Given the description of an element on the screen output the (x, y) to click on. 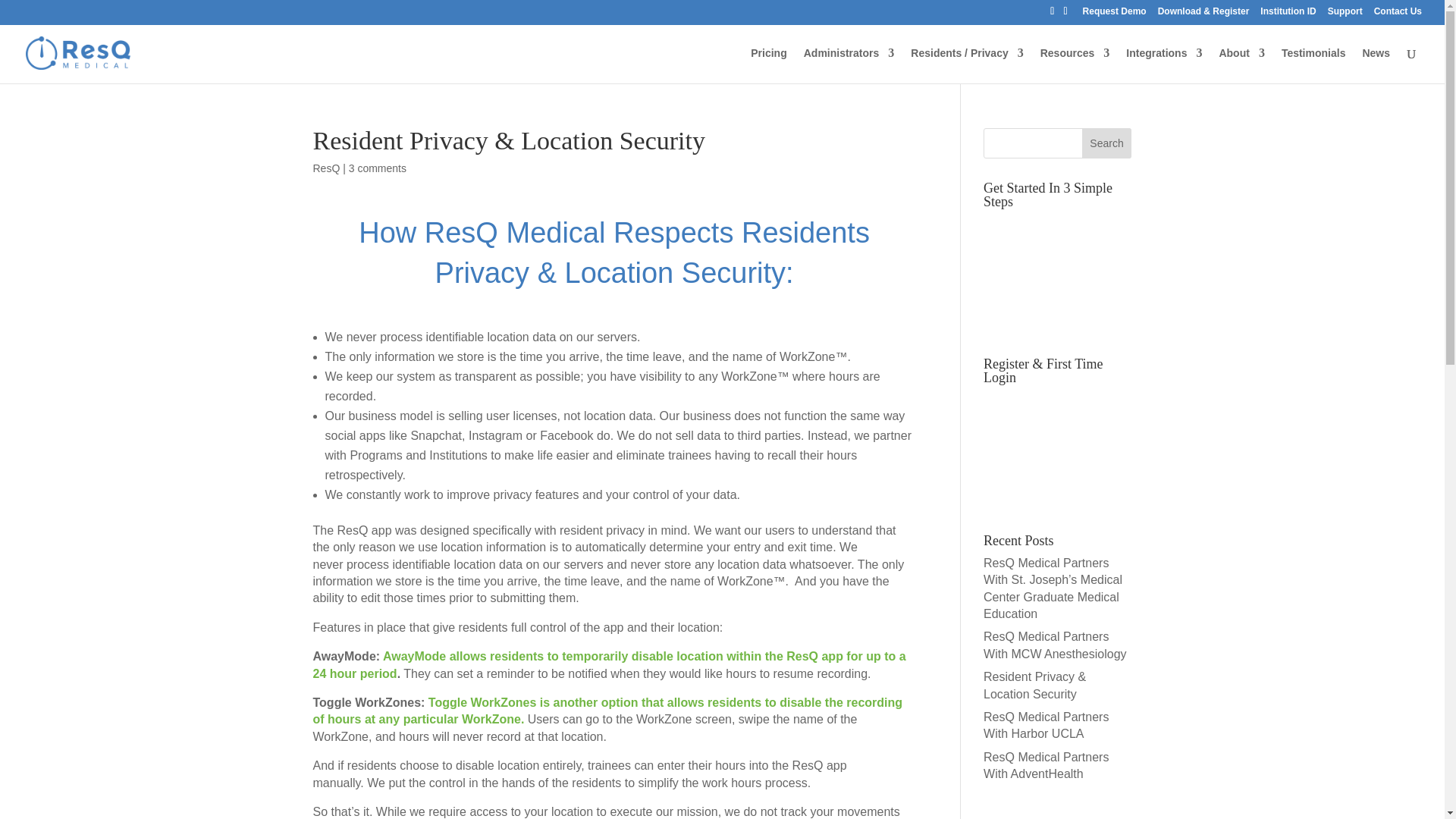
Integrations (1163, 65)
Resources (1075, 65)
Pricing (768, 65)
Request Demo (1115, 14)
Testimonials (1313, 65)
3 comments (377, 168)
Support (1344, 14)
Administrators (849, 65)
ResQ (326, 168)
